Given the description of an element on the screen output the (x, y) to click on. 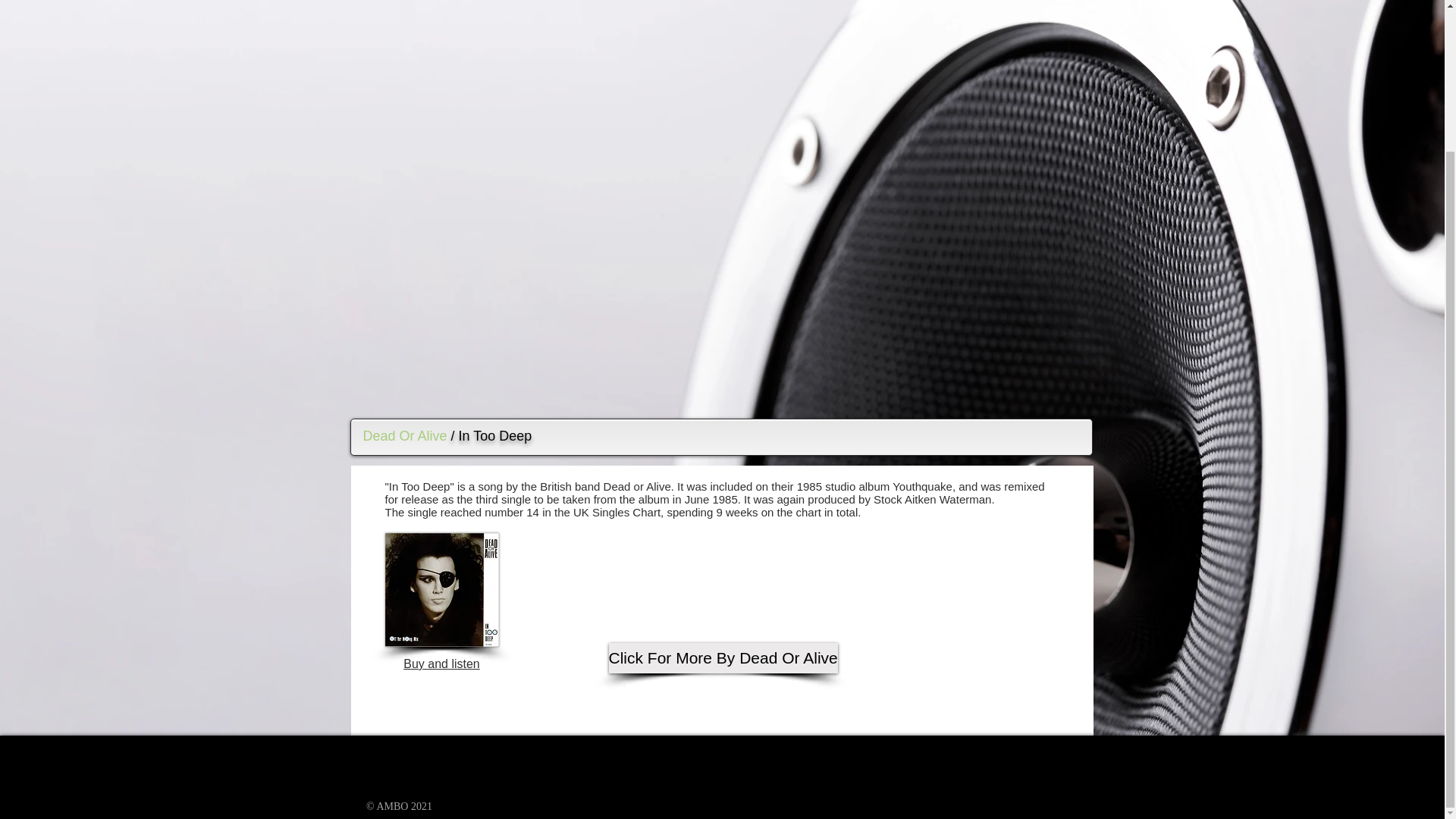
Click For More By Dead Or Alive (722, 657)
Buy and listen (441, 663)
Youthquake (922, 486)
UK Singles Chart (617, 512)
Dead or Alive (637, 486)
